Given the description of an element on the screen output the (x, y) to click on. 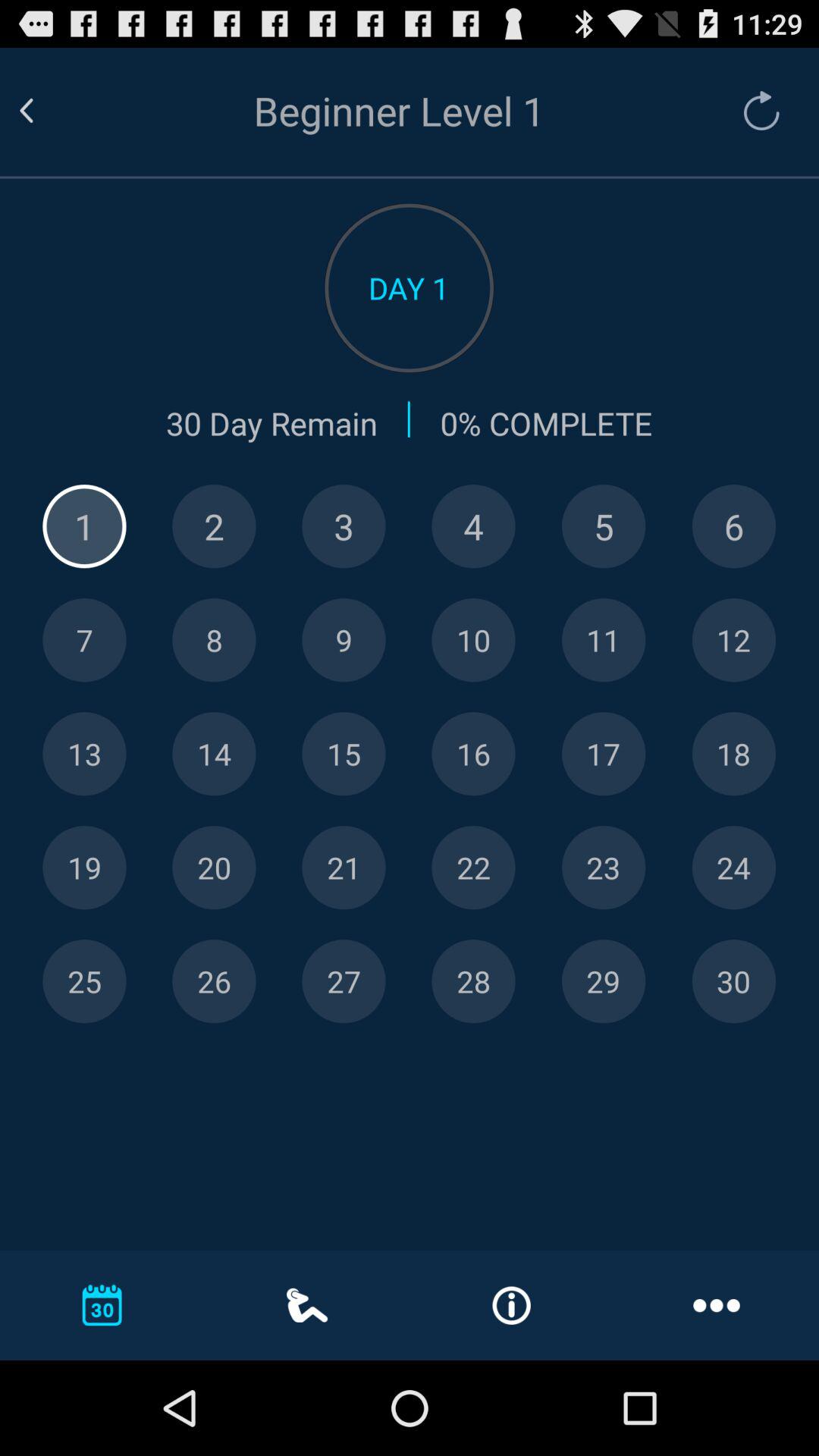
select specific day (84, 981)
